Given the description of an element on the screen output the (x, y) to click on. 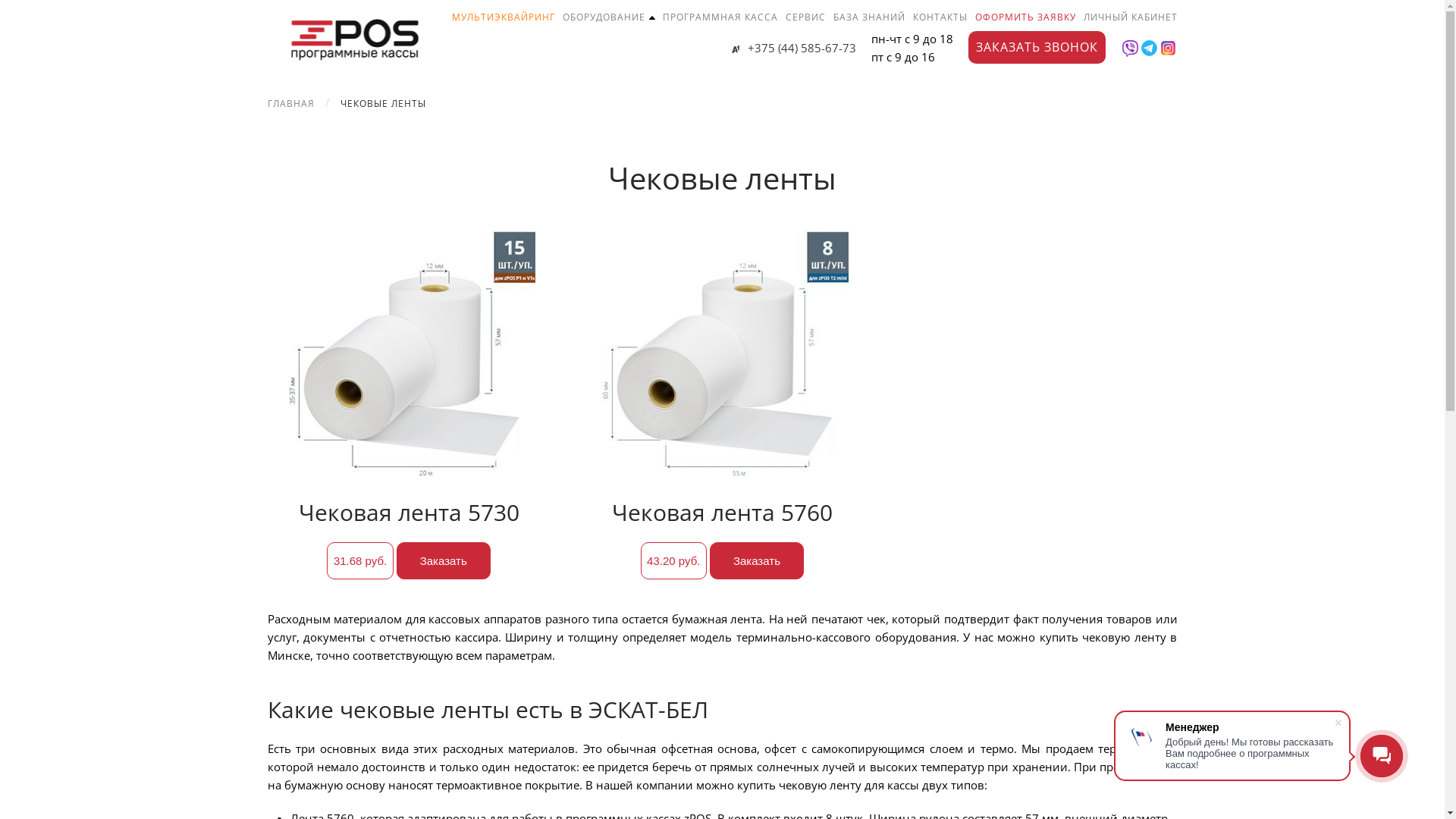
+375 (44) 585-67-73 Element type: text (793, 47)
